Given the description of an element on the screen output the (x, y) to click on. 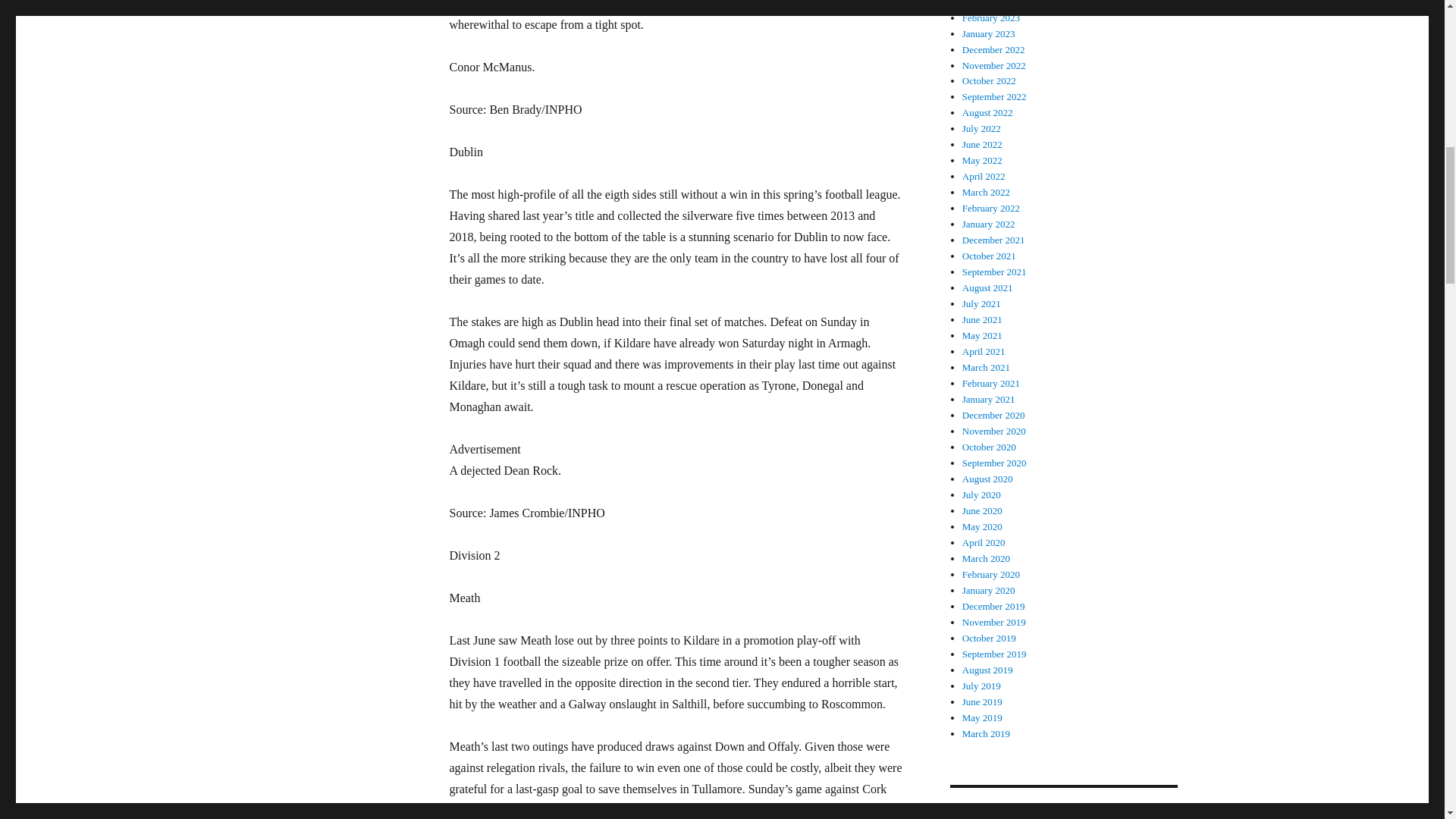
October 2022 (989, 80)
September 2022 (994, 96)
March 2023 (986, 3)
February 2023 (991, 17)
December 2022 (993, 49)
January 2023 (988, 33)
November 2022 (994, 64)
